Given the description of an element on the screen output the (x, y) to click on. 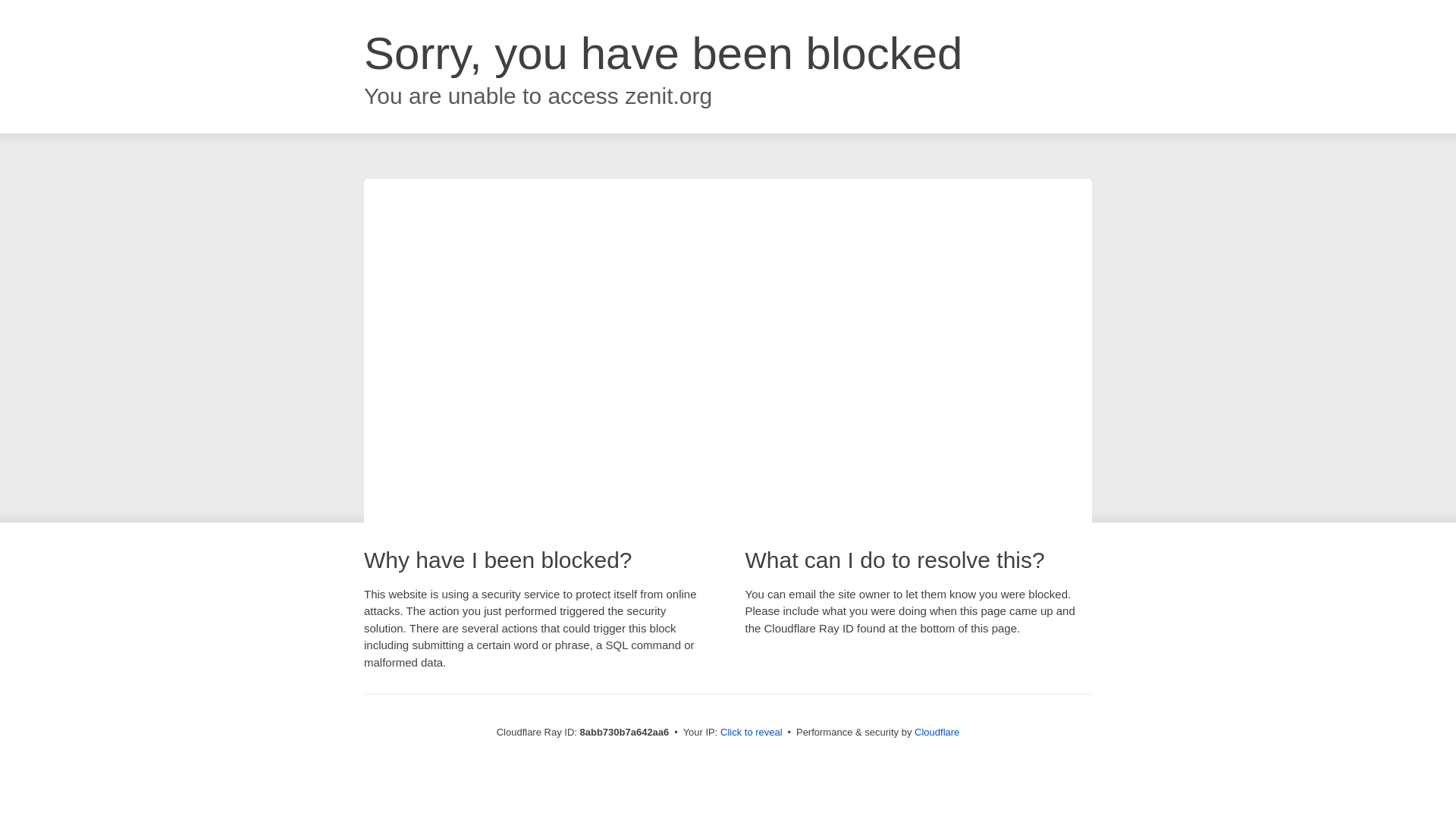
Click to reveal (751, 732)
Cloudflare (936, 731)
